Given the description of an element on the screen output the (x, y) to click on. 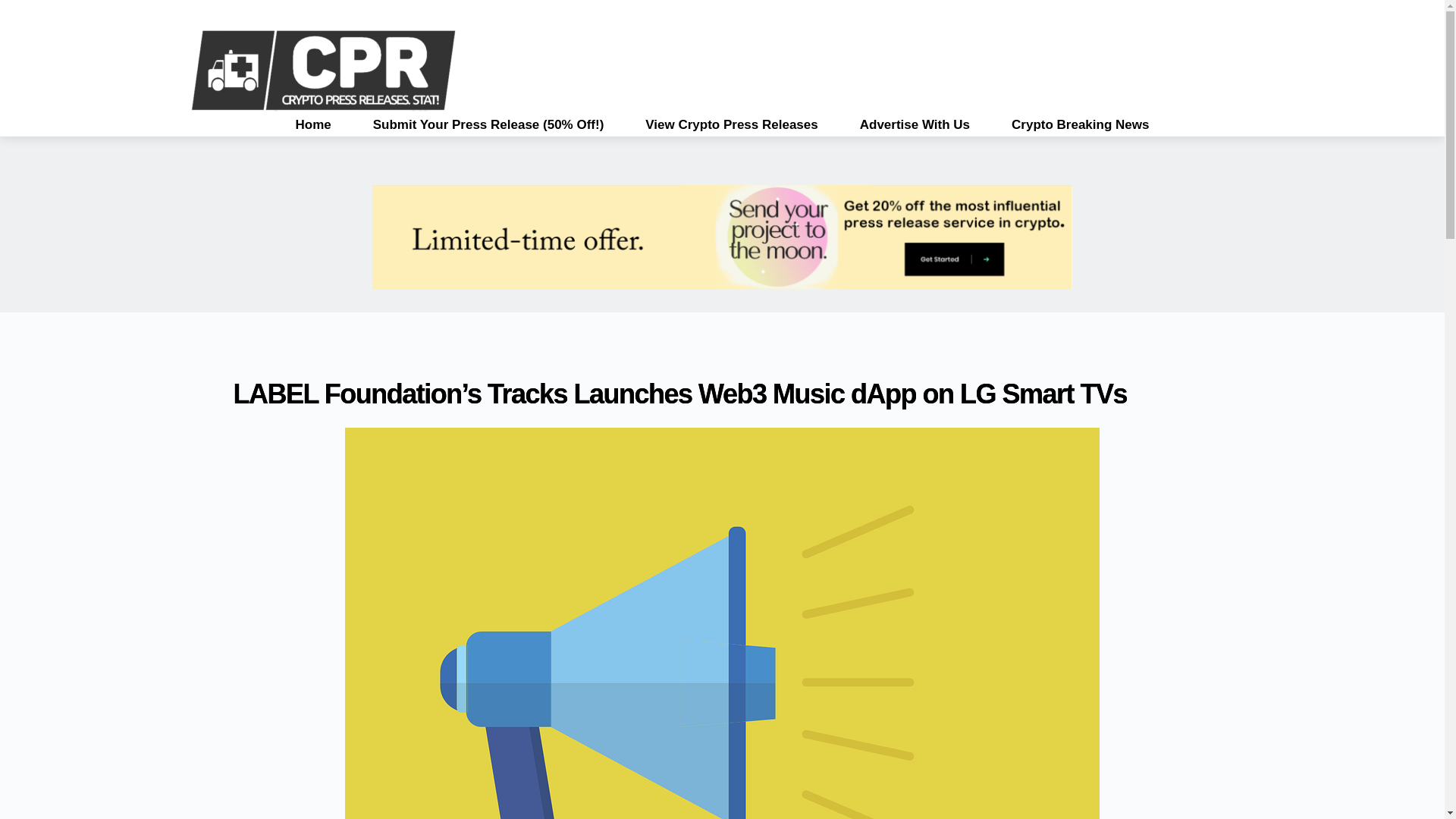
View Crypto Press Releases (731, 125)
Advertise With Us (915, 125)
Crypto Breaking News (1080, 125)
Home (313, 125)
